Given the description of an element on the screen output the (x, y) to click on. 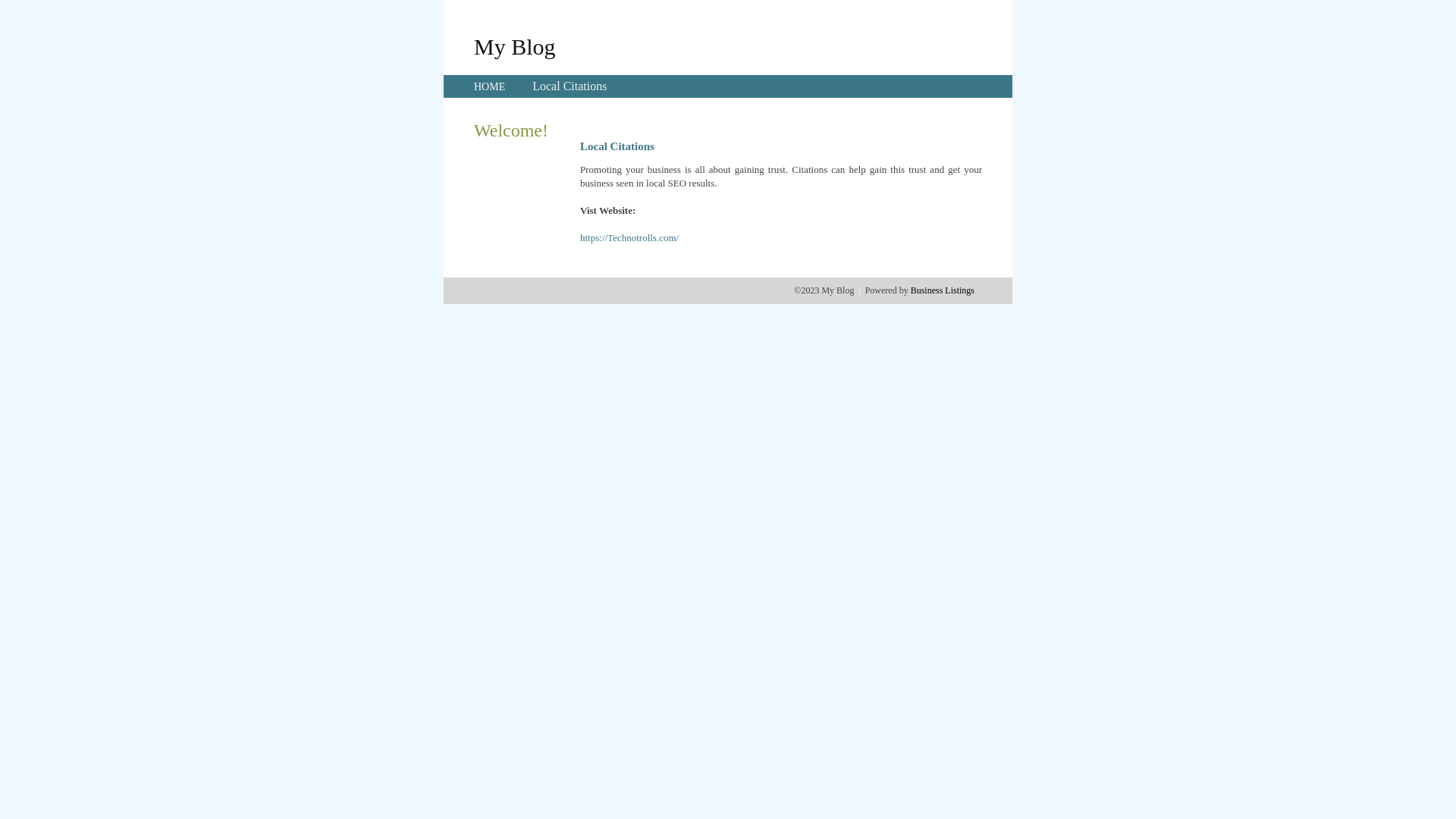
Business Listings Element type: text (942, 290)
https://Technotrolls.com/ Element type: text (629, 237)
Local Citations Element type: text (569, 85)
HOME Element type: text (489, 86)
My Blog Element type: text (514, 46)
